Given the description of an element on the screen output the (x, y) to click on. 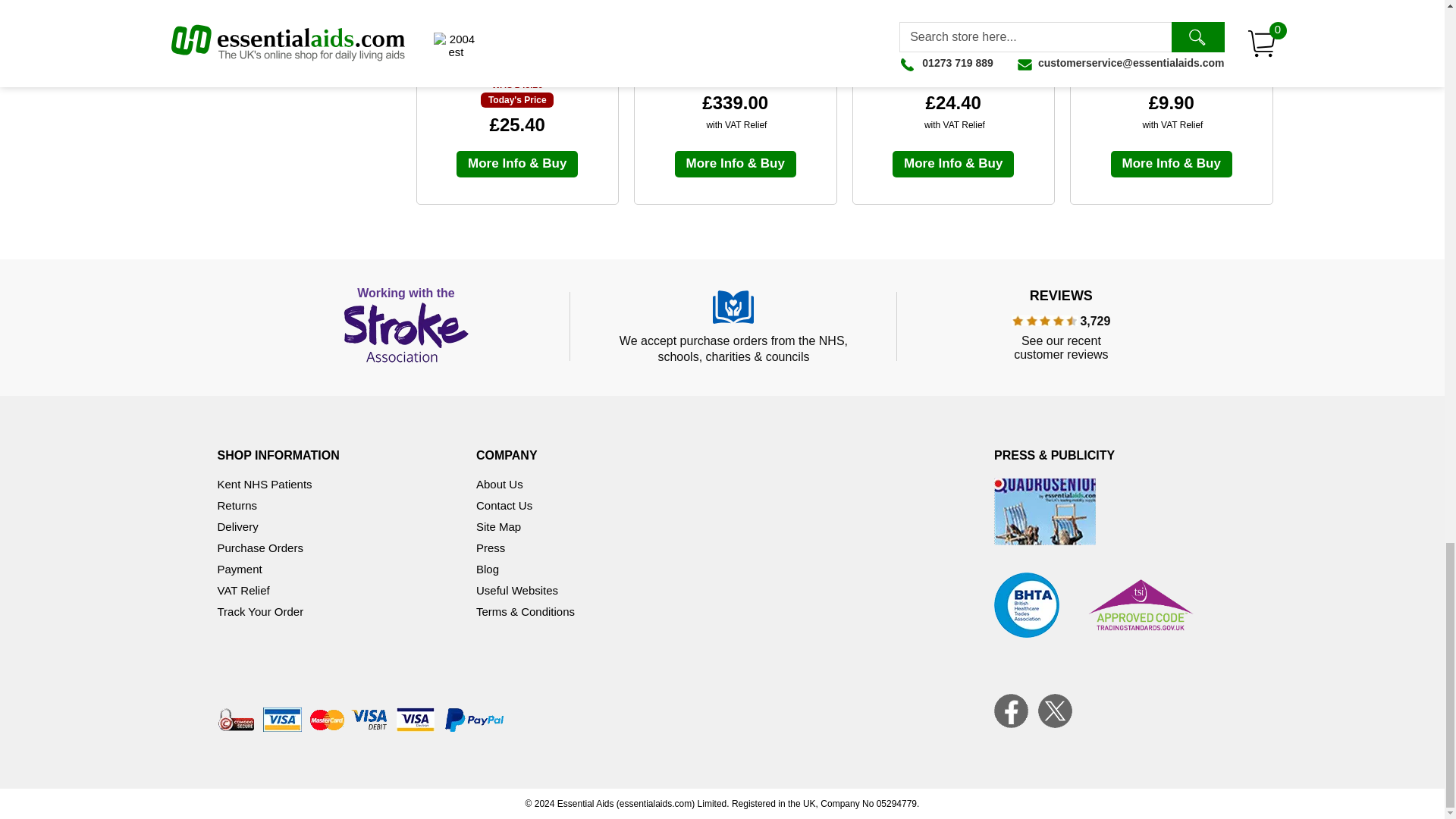
Kent NHS Patients (263, 483)
Stroke Association (406, 326)
Returns (236, 504)
Payment (239, 568)
Purchase Orders (259, 547)
Delivery (236, 526)
